Given the description of an element on the screen output the (x, y) to click on. 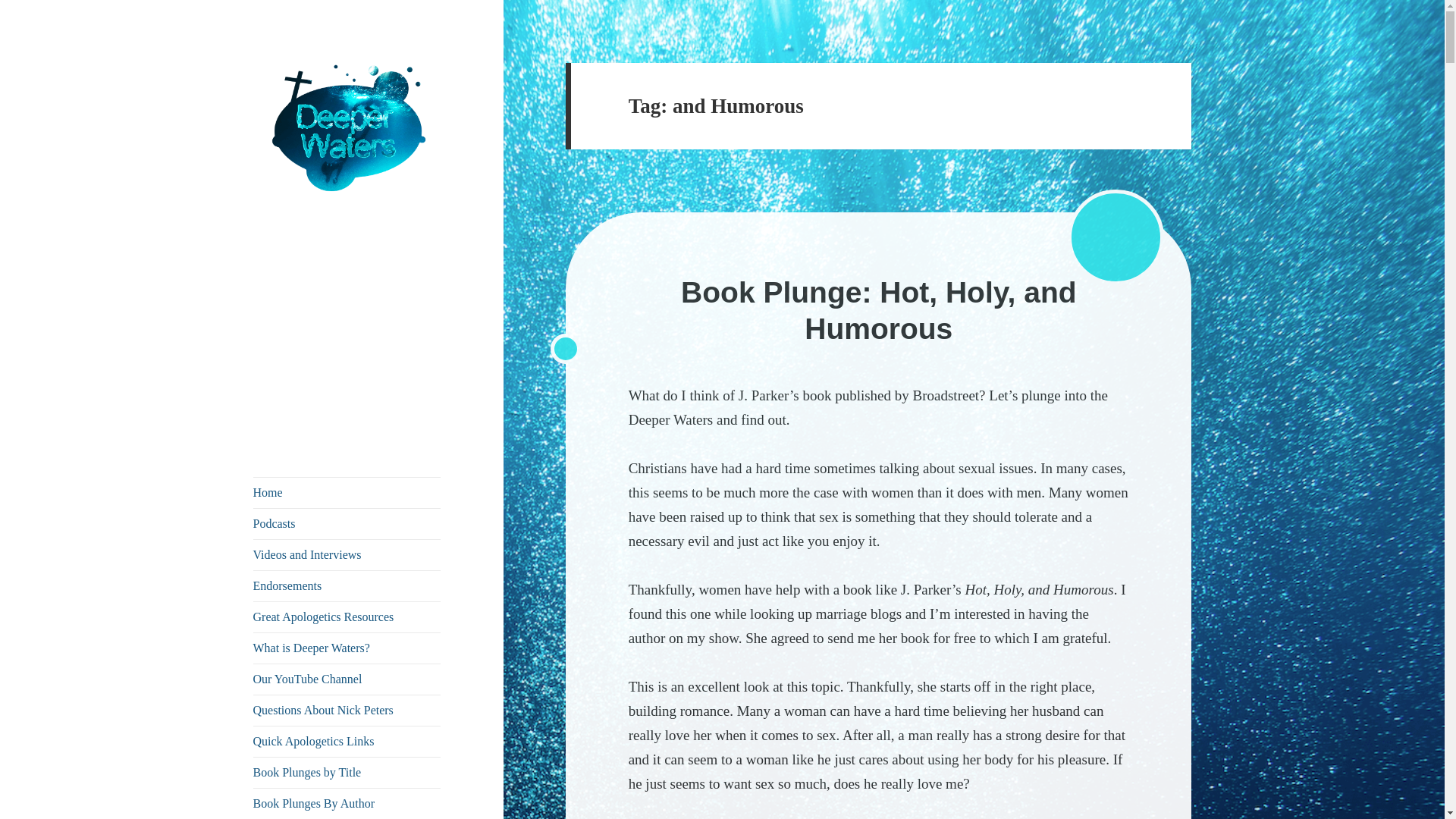
Podcasts (347, 523)
Our YouTube Channel (347, 679)
What is Deeper Waters? (347, 648)
Book Plunges By Author (347, 803)
Home (347, 492)
Questions About Nick Peters (347, 710)
Great Apologetics Resources (347, 616)
Endorsements (347, 585)
Quick Apologetics Links (347, 741)
Videos and Interviews (347, 554)
